Given the description of an element on the screen output the (x, y) to click on. 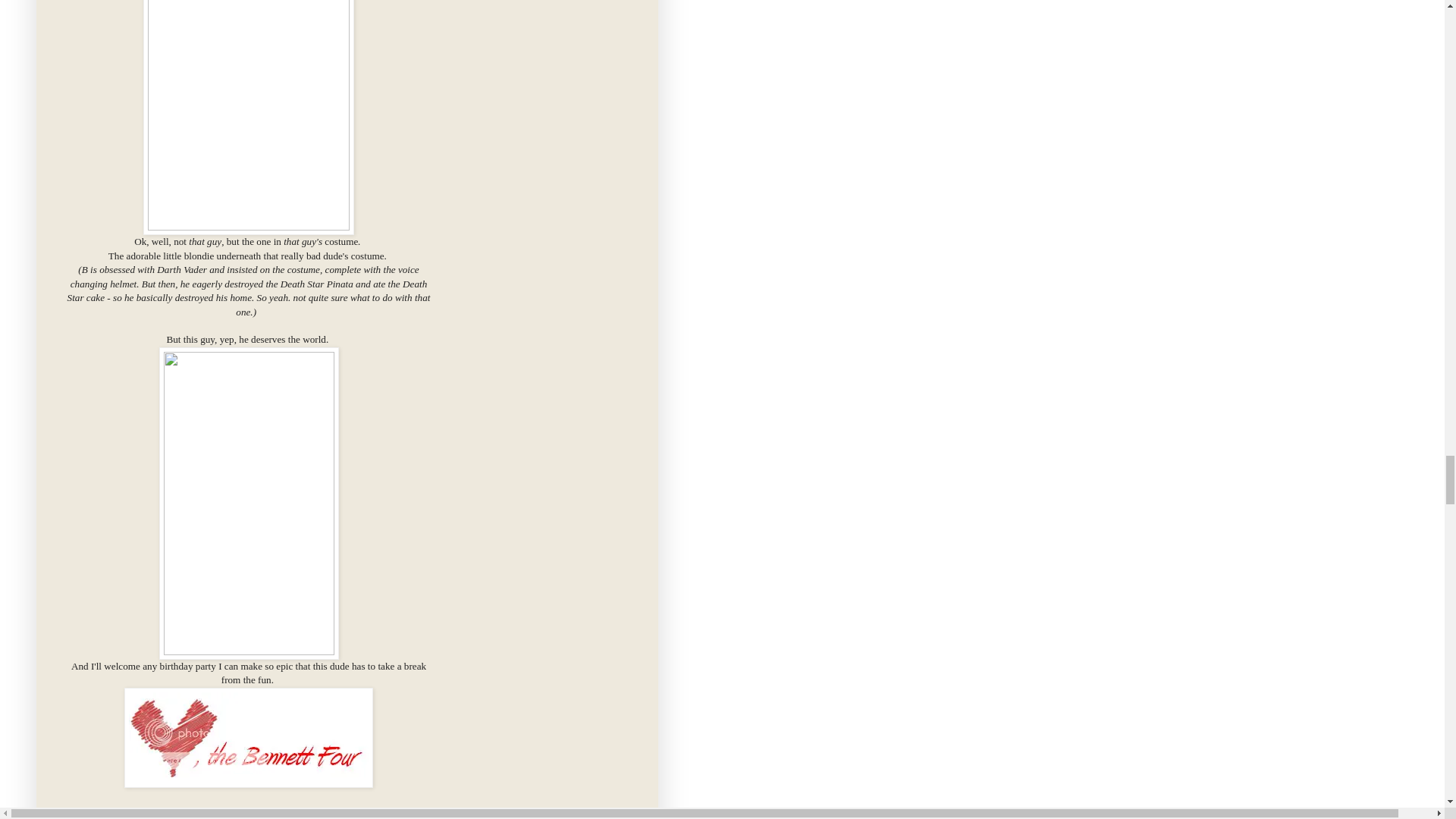
Amy Bennett (129, 816)
Email Post (246, 816)
No comments: (214, 816)
author profile (129, 816)
permanent link (173, 816)
